Given the description of an element on the screen output the (x, y) to click on. 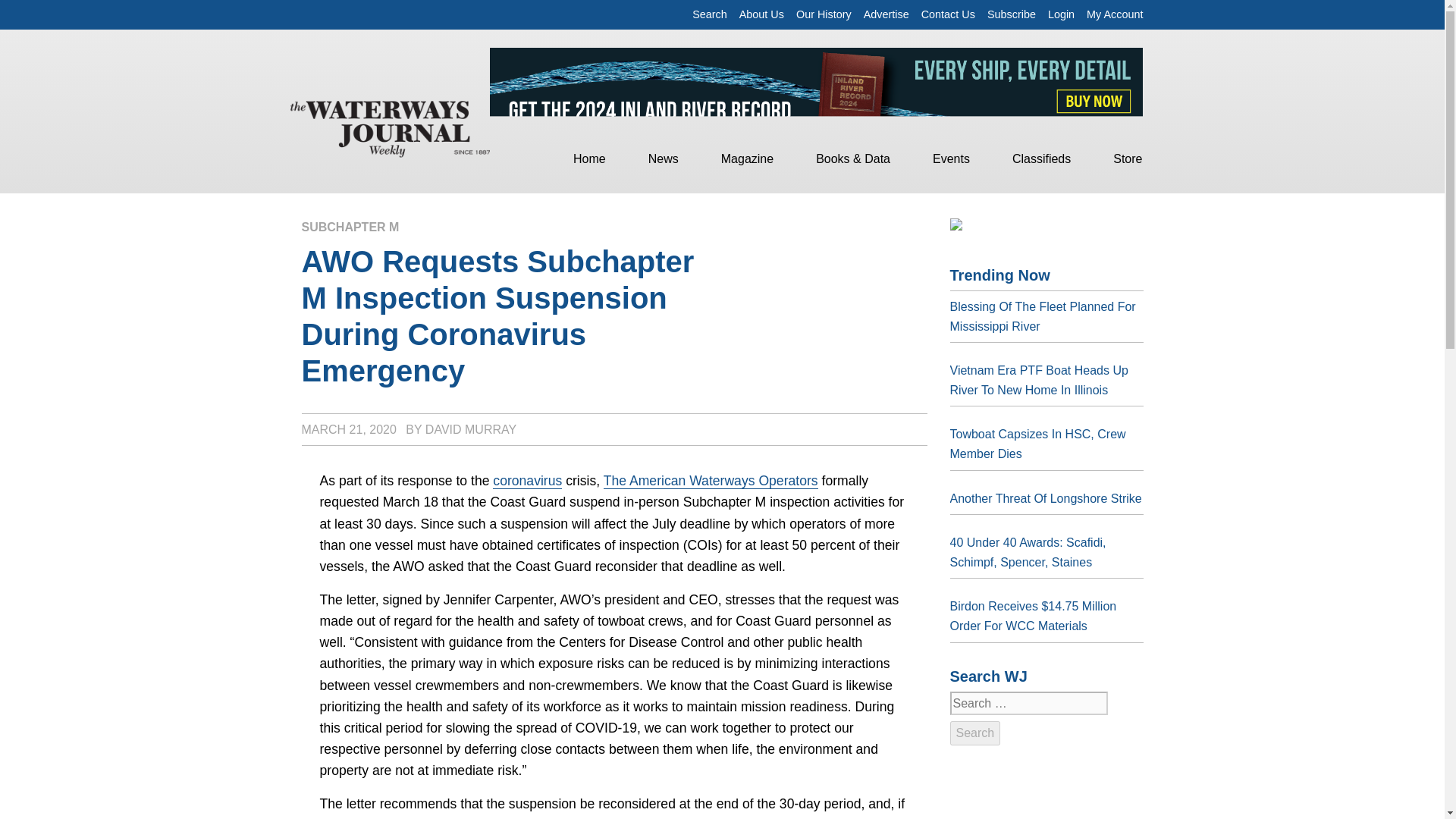
Search (974, 733)
Home (588, 159)
Magazine (747, 159)
Classifieds (1041, 159)
News (663, 159)
News (663, 159)
The Waterways Journal (389, 126)
Our History (823, 14)
Home (588, 159)
The Waterways Journal (389, 125)
About Us (761, 14)
My Account (1114, 14)
Search (709, 14)
Contact Us (948, 14)
Our History (823, 14)
